Given the description of an element on the screen output the (x, y) to click on. 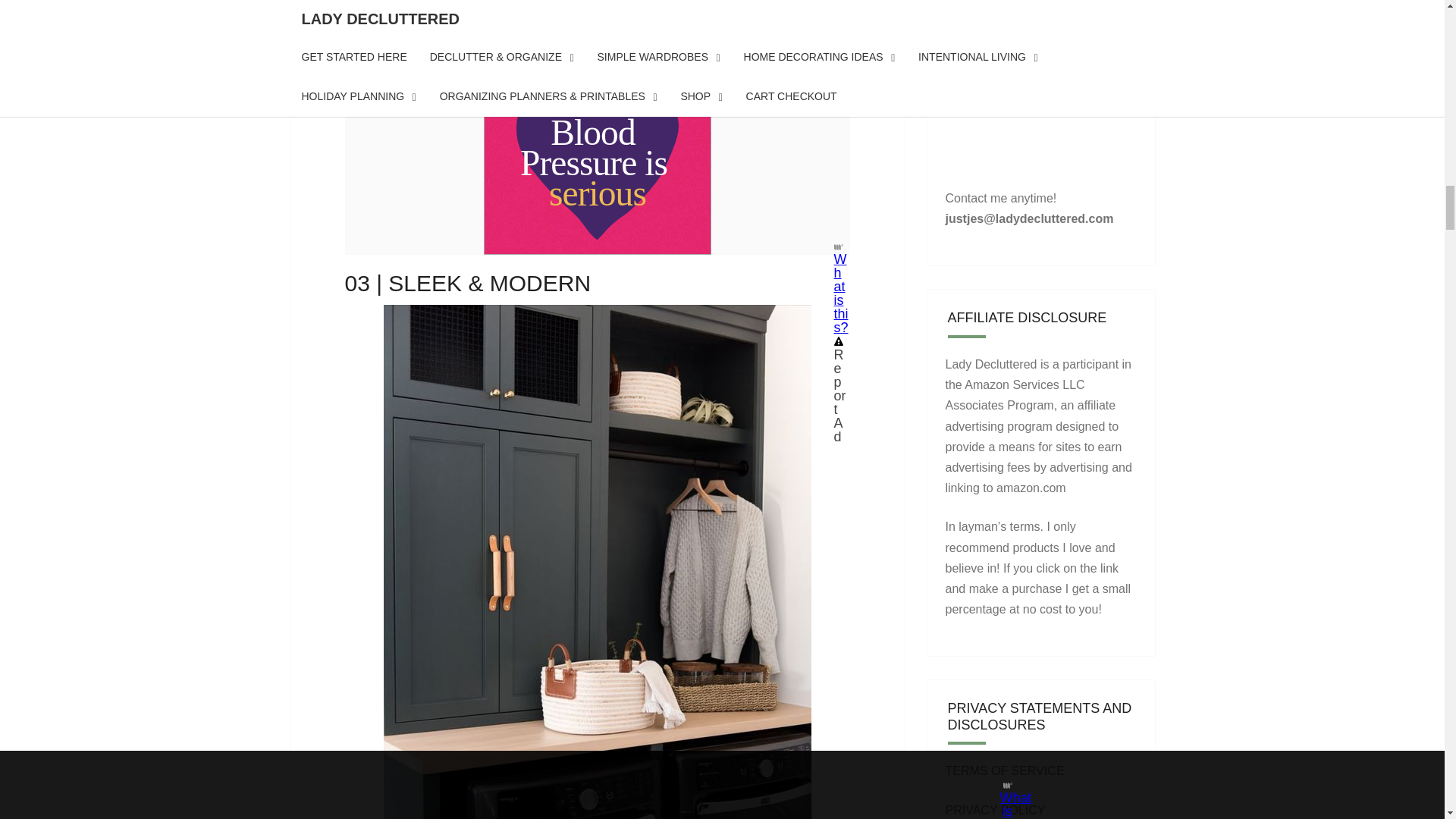
3rd party ad content (597, 55)
